Given the description of an element on the screen output the (x, y) to click on. 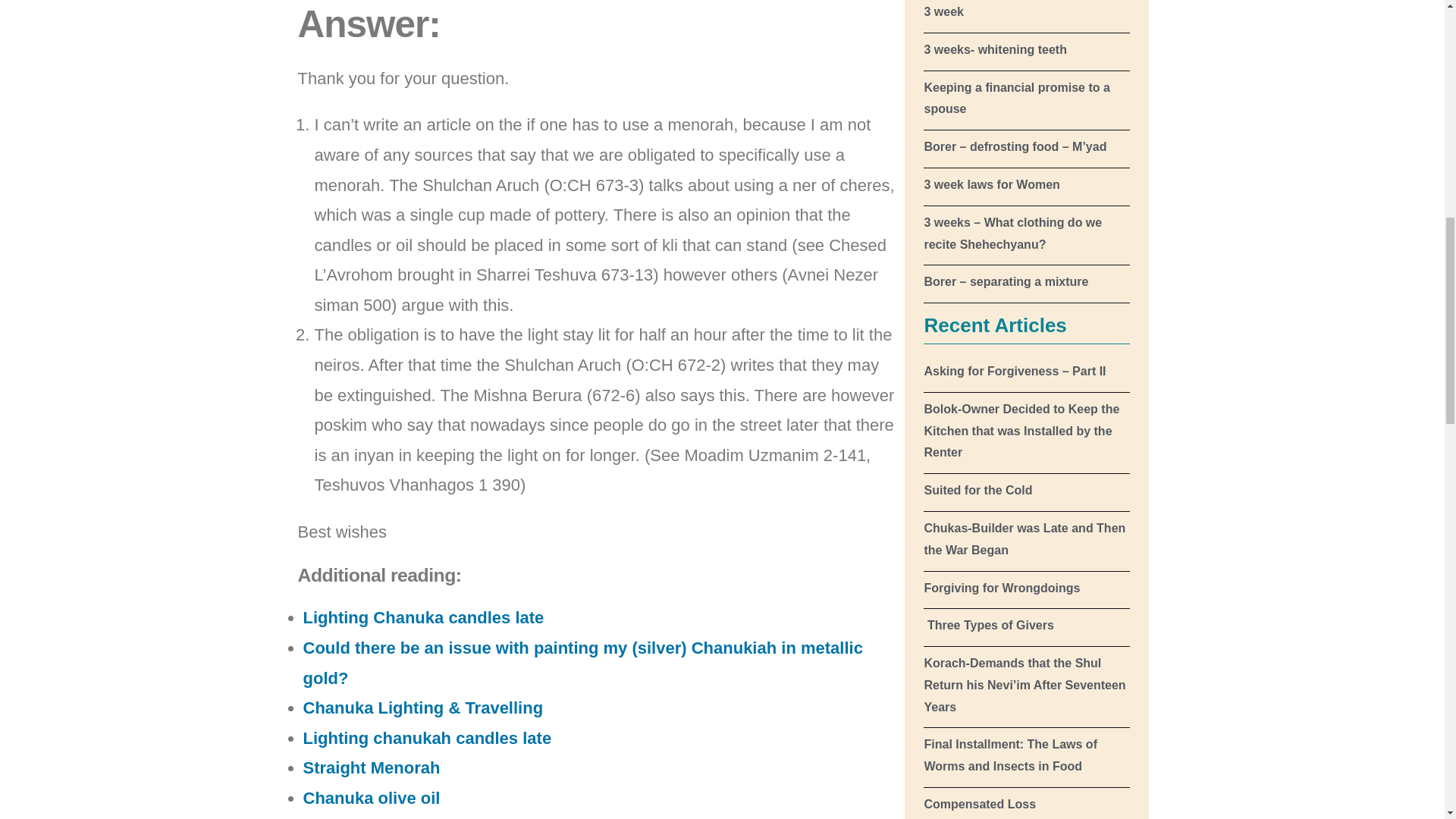
Lighting chanukah candles late (426, 737)
Lighting Chanuka candles late (423, 617)
Chanuka olive oil (371, 797)
Chanuka olive oil (371, 797)
Lighting chanukah candles late (426, 737)
Straight Menorah (371, 767)
Lighting Chanuka candles late (423, 617)
Straight Menorah (371, 767)
